Given the description of an element on the screen output the (x, y) to click on. 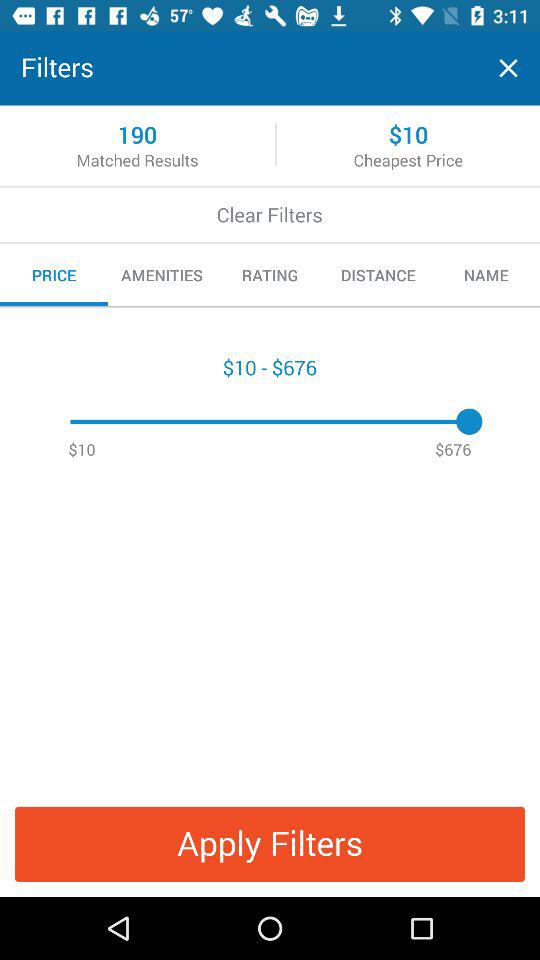
press the item to the right of price item (162, 275)
